Given the description of an element on the screen output the (x, y) to click on. 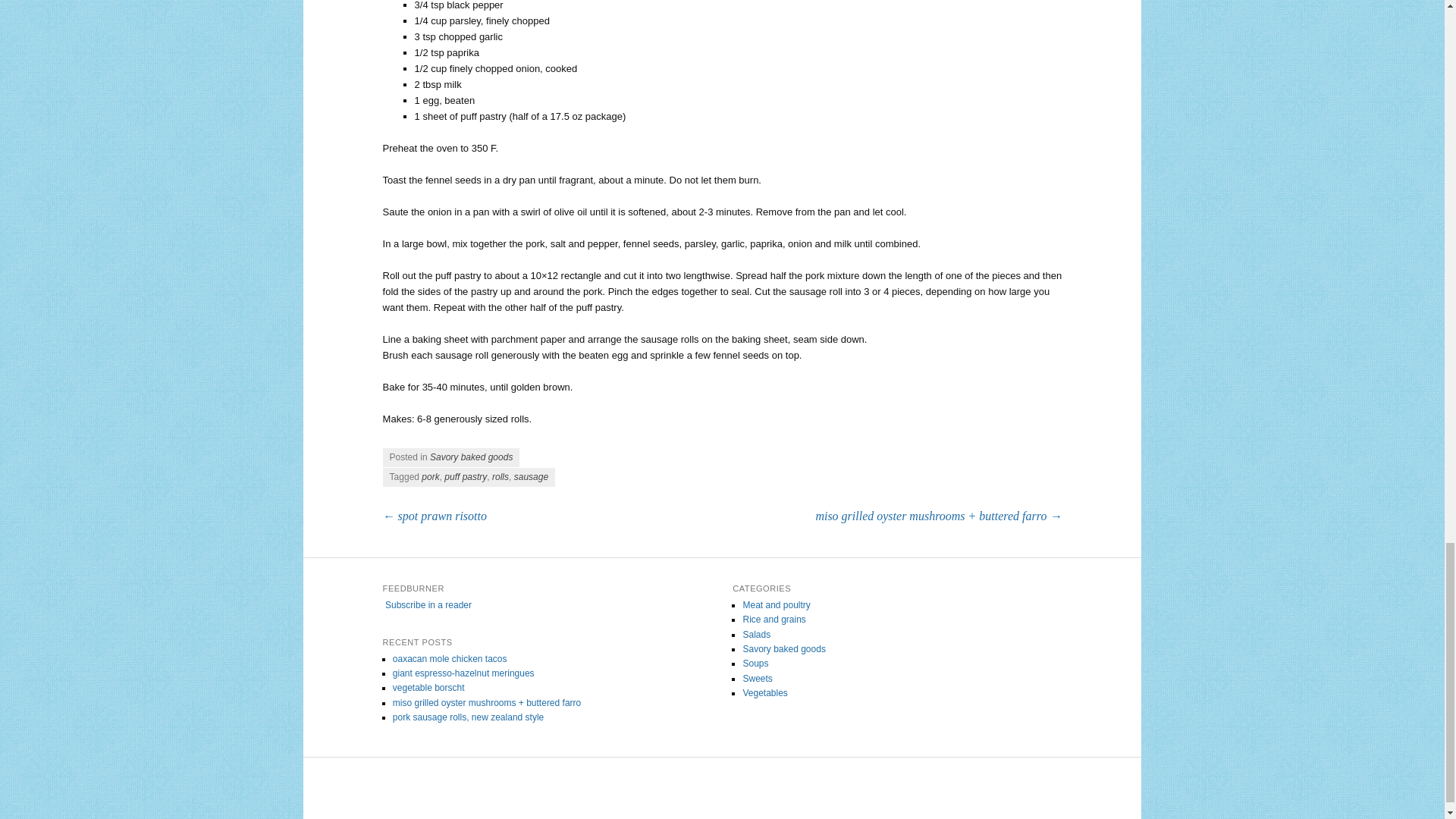
Rice and grains (773, 619)
Meat and poultry (775, 604)
Soups (755, 663)
sausage (530, 476)
pork (430, 476)
Vegetables (764, 692)
Sweets (756, 678)
pork sausage rolls, new zealand style (468, 716)
oaxacan mole chicken tacos (449, 658)
Savory baked goods (783, 648)
